Given the description of an element on the screen output the (x, y) to click on. 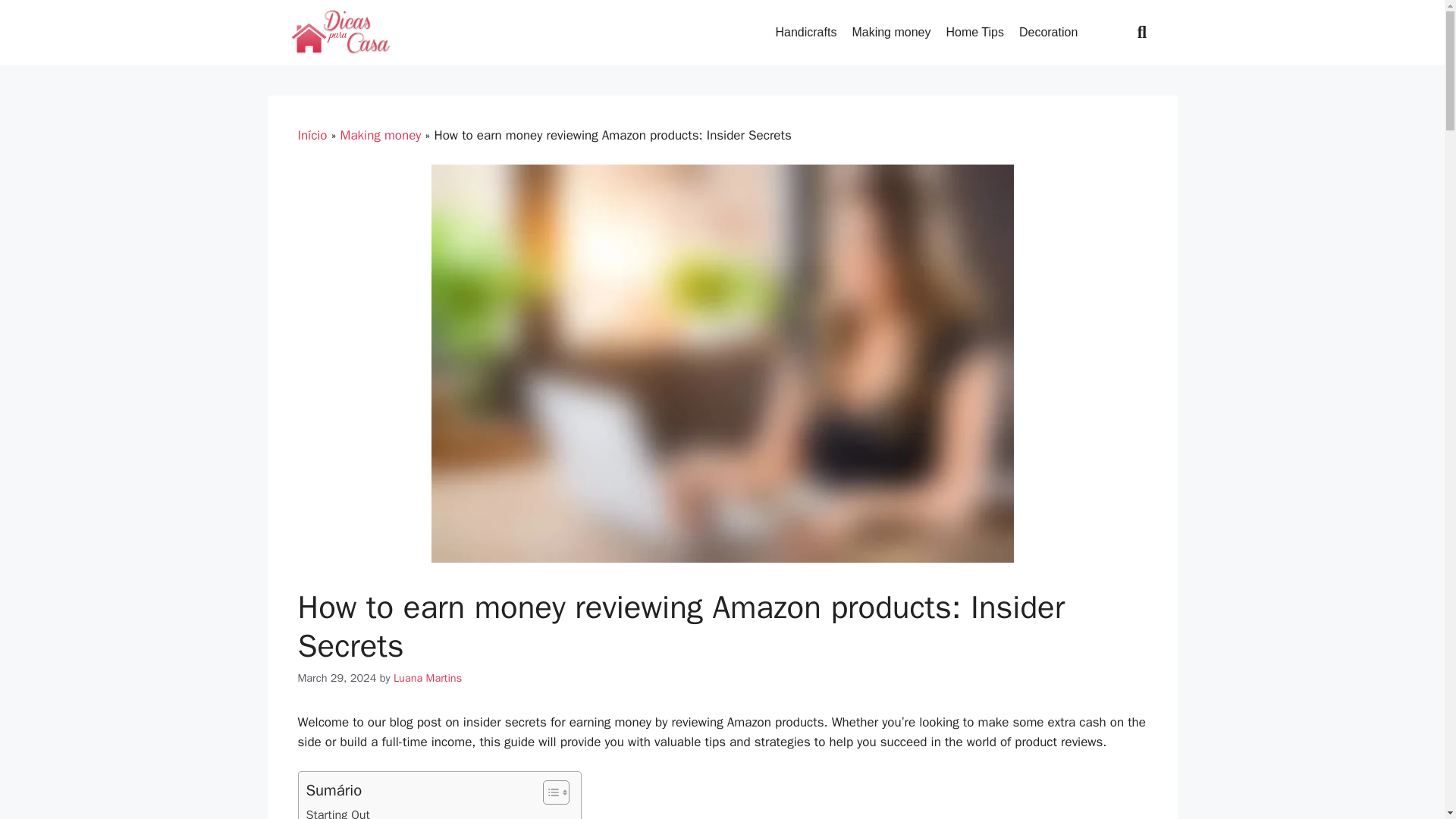
Starting Out (337, 812)
Handicrafts (805, 32)
Making money (890, 32)
Home Tips (973, 32)
Decoration (1047, 32)
View all posts by Luana Martins (427, 677)
